Given the description of an element on the screen output the (x, y) to click on. 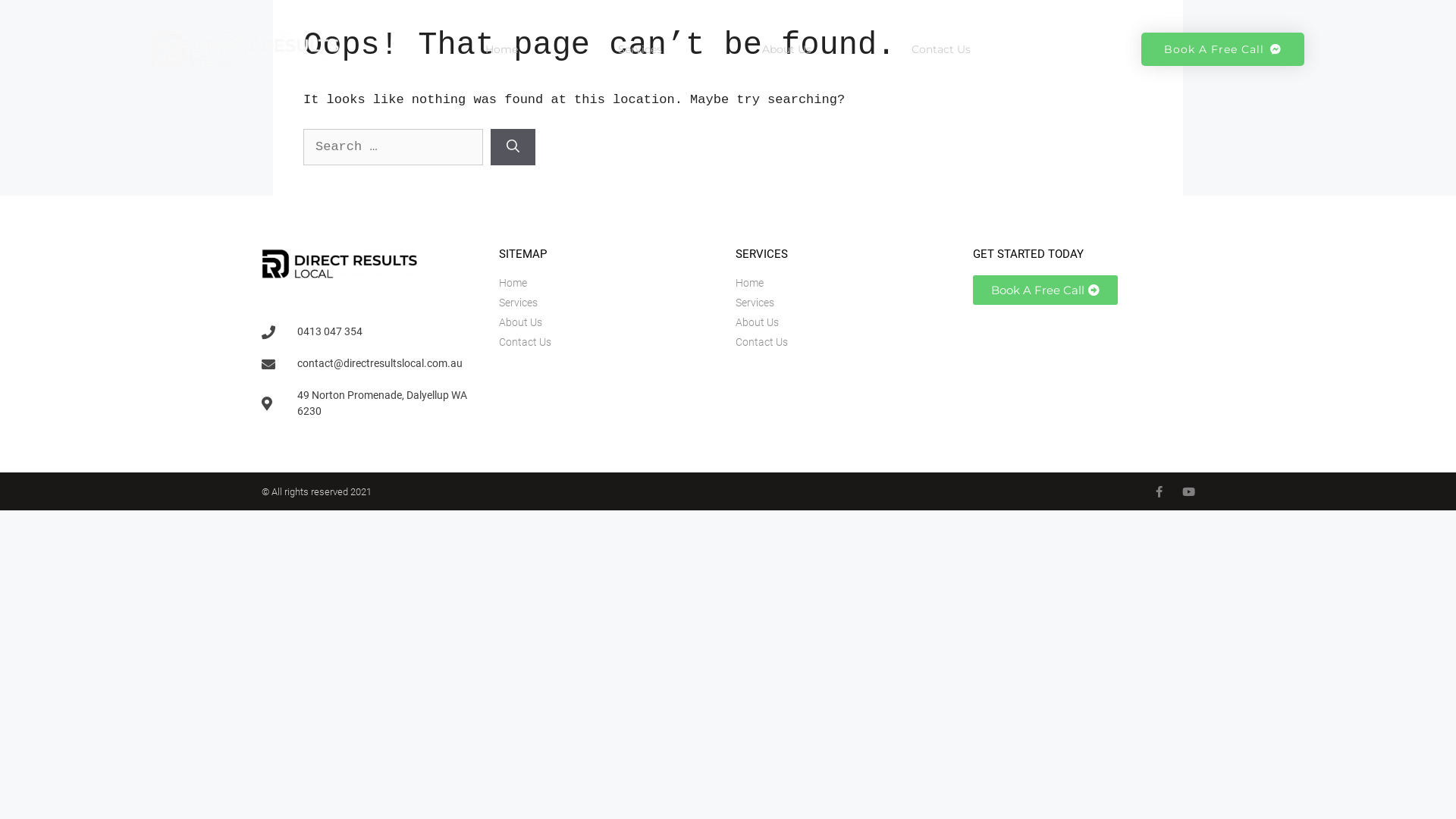
Services Element type: text (639, 48)
About Us Element type: text (846, 322)
Home Element type: text (609, 283)
Home Element type: text (846, 283)
Search for: Element type: hover (393, 146)
About Us Element type: text (609, 322)
About Us Element type: text (786, 48)
Book A Free Call Element type: text (1044, 289)
Contact Us Element type: text (846, 342)
Home Element type: text (501, 48)
Services Element type: text (846, 302)
Contact Us Element type: text (941, 48)
Book A Free Call Element type: text (1222, 48)
Services Element type: text (609, 302)
Contact Us Element type: text (609, 342)
